Given the description of an element on the screen output the (x, y) to click on. 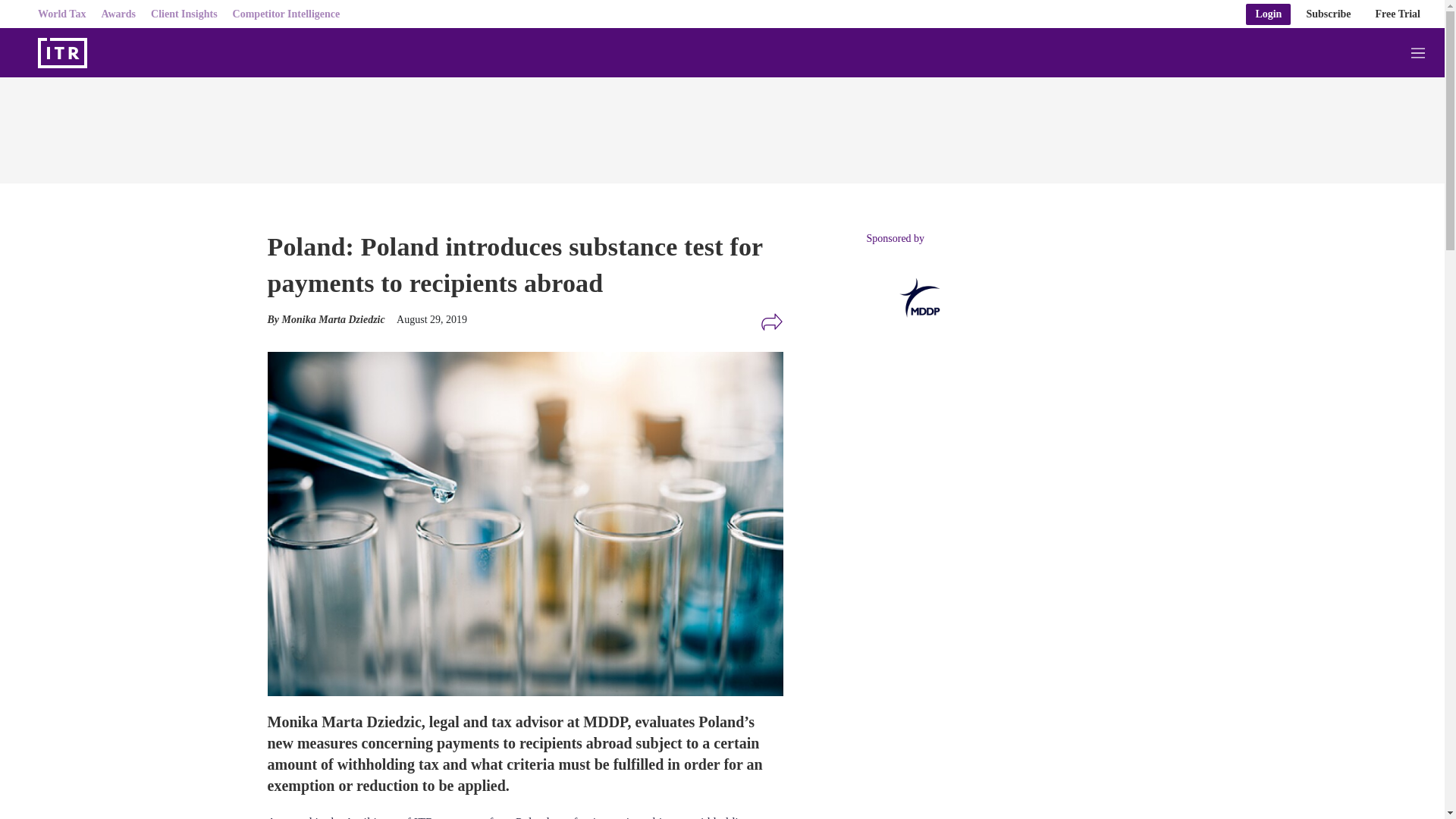
Free Trial (1398, 13)
World Tax (61, 13)
3rd party ad content (979, 669)
3rd party ad content (979, 465)
Competitor Intelligence (286, 13)
3rd party ad content (721, 126)
Share (771, 322)
Login (1268, 13)
Subscribe (1328, 13)
Client Insights (183, 13)
